Given the description of an element on the screen output the (x, y) to click on. 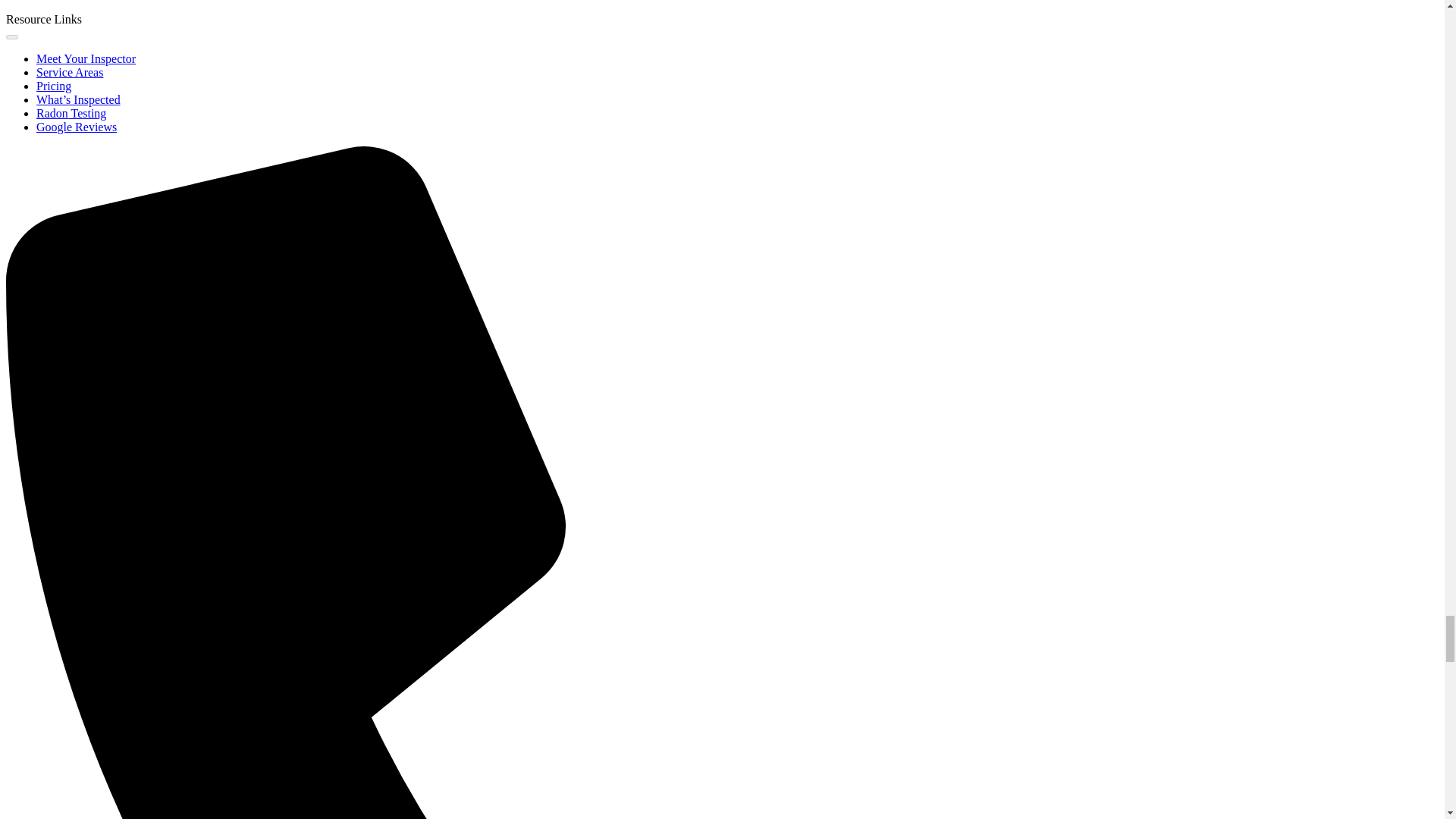
Google Reviews (76, 126)
Service Areas (69, 72)
Meet Your Inspector (85, 58)
Pricing (53, 85)
Radon Testing (71, 113)
